Given the description of an element on the screen output the (x, y) to click on. 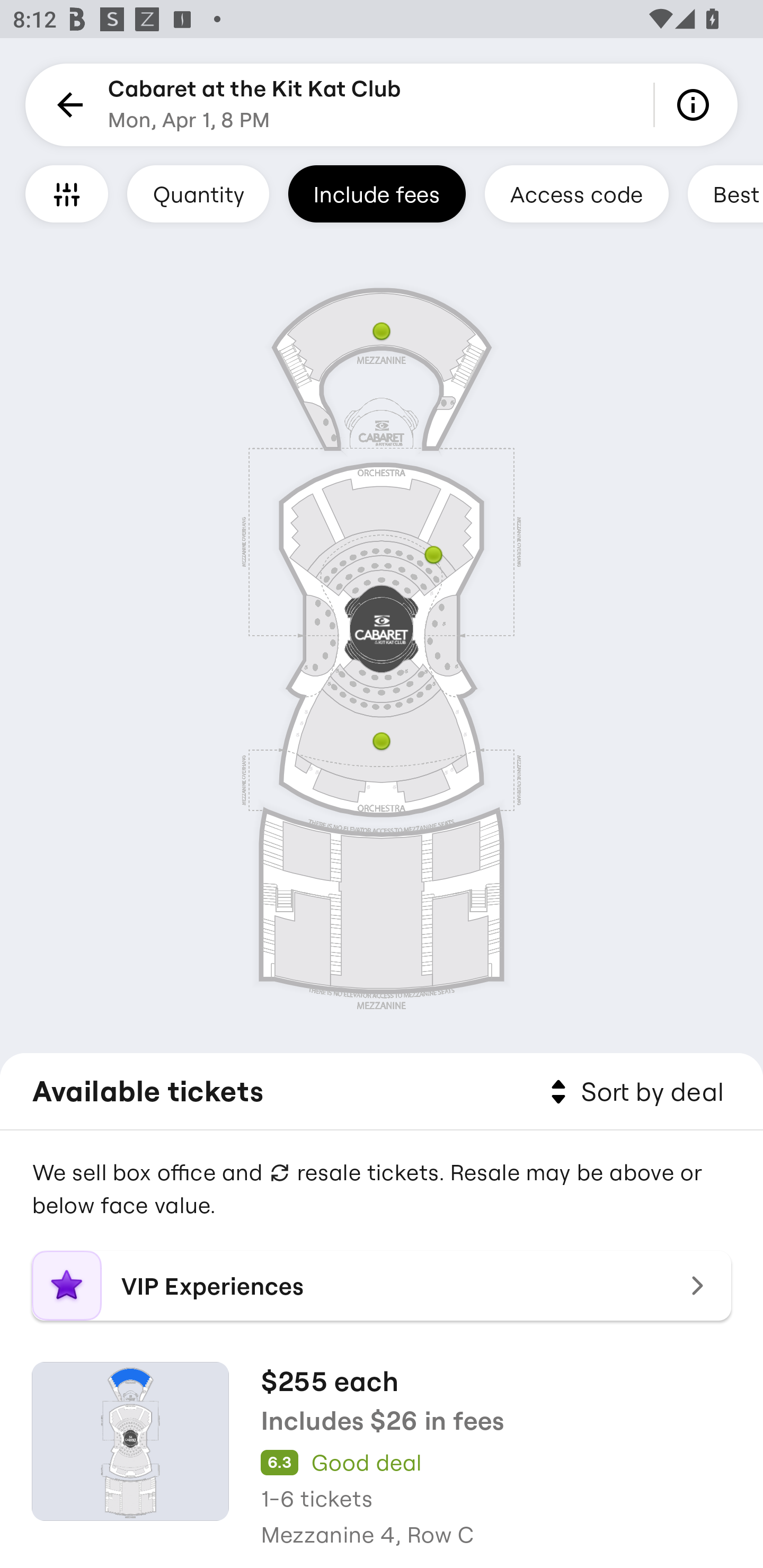
Back (66, 104)
Cabaret at the Kit Kat Club Mon, Apr 1, 8 PM (254, 104)
Info (695, 104)
Filters and Accessible Seating (66, 193)
Quantity (198, 193)
Include fees (376, 193)
Access code (576, 193)
Sort by deal (633, 1091)
VIP Experiences (381, 1285)
